Given the description of an element on the screen output the (x, y) to click on. 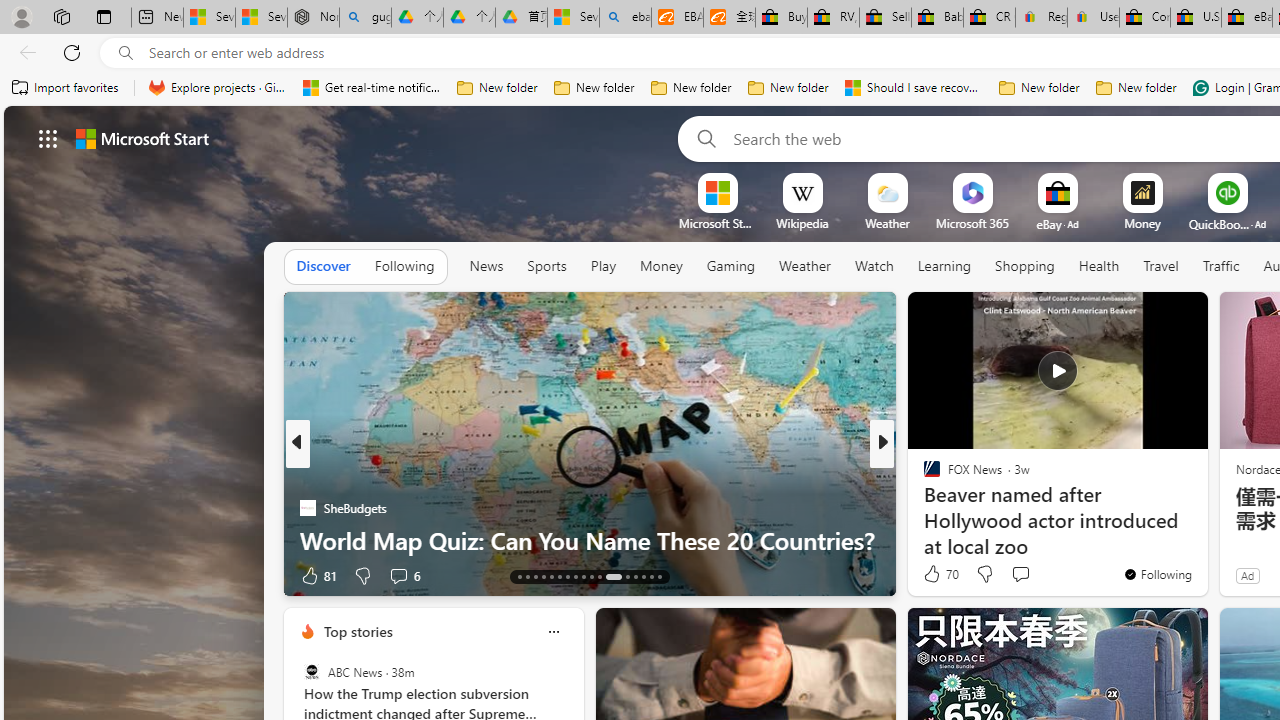
Start the conversation (1020, 574)
Microsoft start (142, 138)
AutomationID: tab-34 (650, 576)
App launcher (47, 138)
AutomationID: tab-21 (582, 576)
ebay - Search (625, 17)
AutomationID: tab-15 (535, 576)
SheBudgets (307, 507)
Learning (944, 267)
AutomationID: tab-23 (599, 576)
Baby Keepsakes & Announcements for sale | eBay (936, 17)
U.S. State Privacy Disclosures - eBay Inc. (1196, 17)
Hide this story (1147, 315)
Workspaces (61, 16)
